Given the description of an element on the screen output the (x, y) to click on. 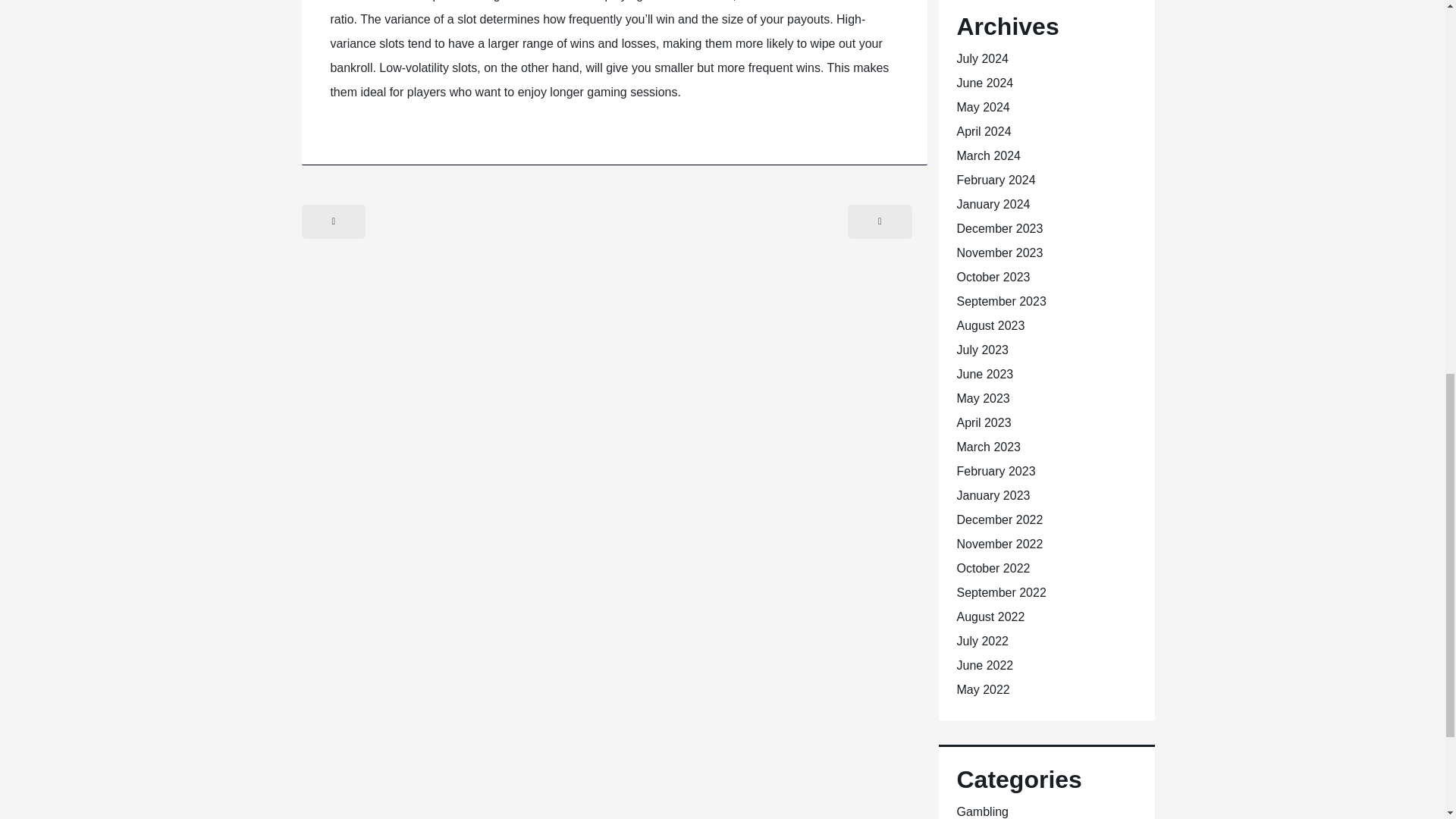
May 2024 (983, 106)
November 2023 (999, 252)
February 2024 (995, 179)
June 2023 (984, 373)
April 2024 (983, 131)
June 2024 (984, 82)
April 2023 (983, 422)
November 2022 (999, 543)
June 2022 (984, 665)
September 2023 (1001, 300)
July 2024 (982, 58)
May 2022 (983, 689)
March 2023 (989, 446)
March 2024 (989, 155)
September 2022 (1001, 592)
